Given the description of an element on the screen output the (x, y) to click on. 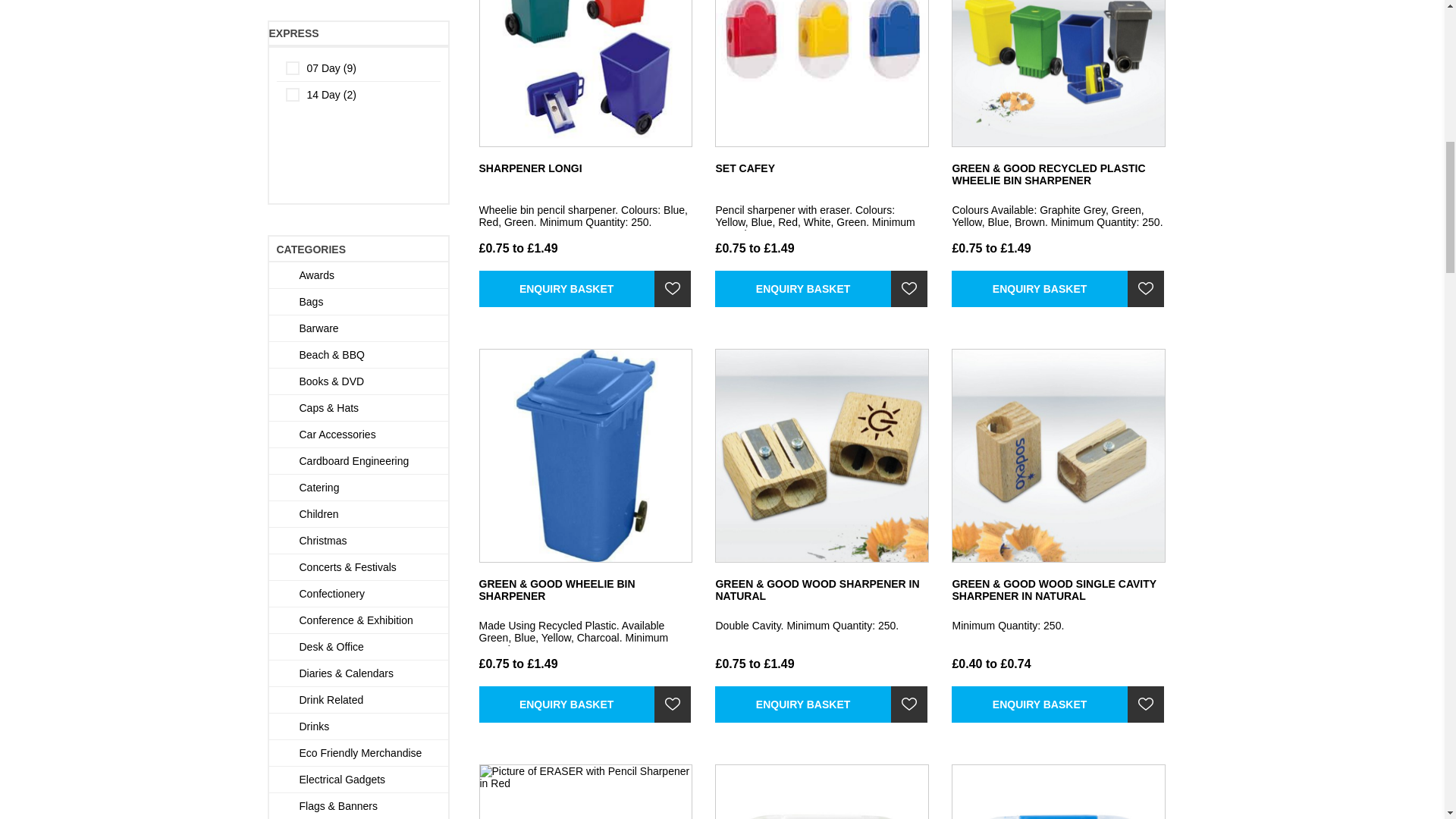
Enquiry Basket (566, 289)
Add to Ideas List (909, 289)
Enquiry Basket (801, 289)
Add to Ideas List (671, 289)
Add to Ideas List (1144, 289)
Enquiry Basket (801, 704)
Add to Ideas List (671, 704)
Enquiry Basket (1039, 289)
Add to Ideas List (909, 704)
Enquiry Basket (1039, 704)
Enquiry Basket (566, 704)
Add to Ideas List (1144, 704)
